Given the description of an element on the screen output the (x, y) to click on. 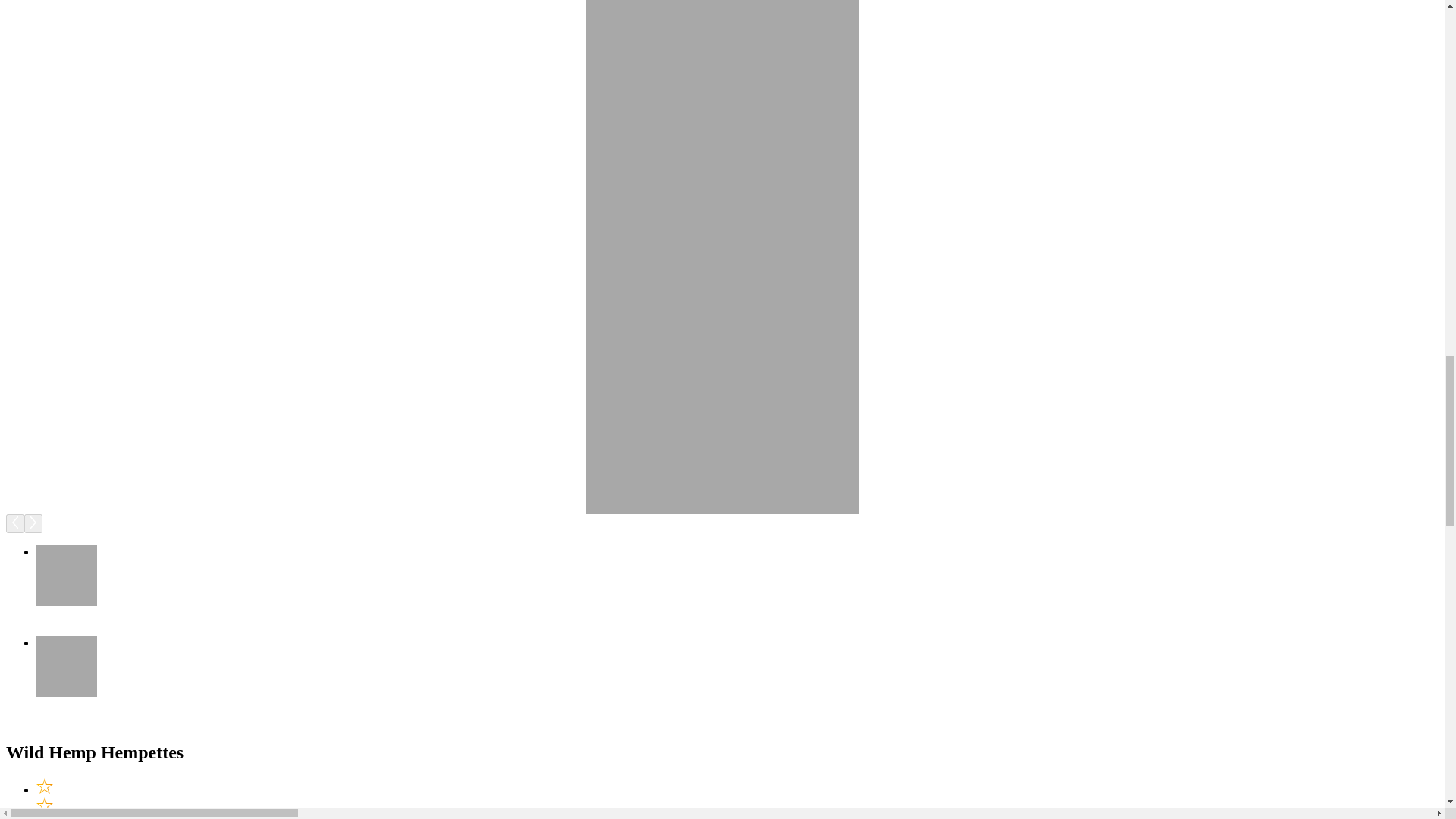
slide next (33, 523)
slide prev (14, 523)
